Given the description of an element on the screen output the (x, y) to click on. 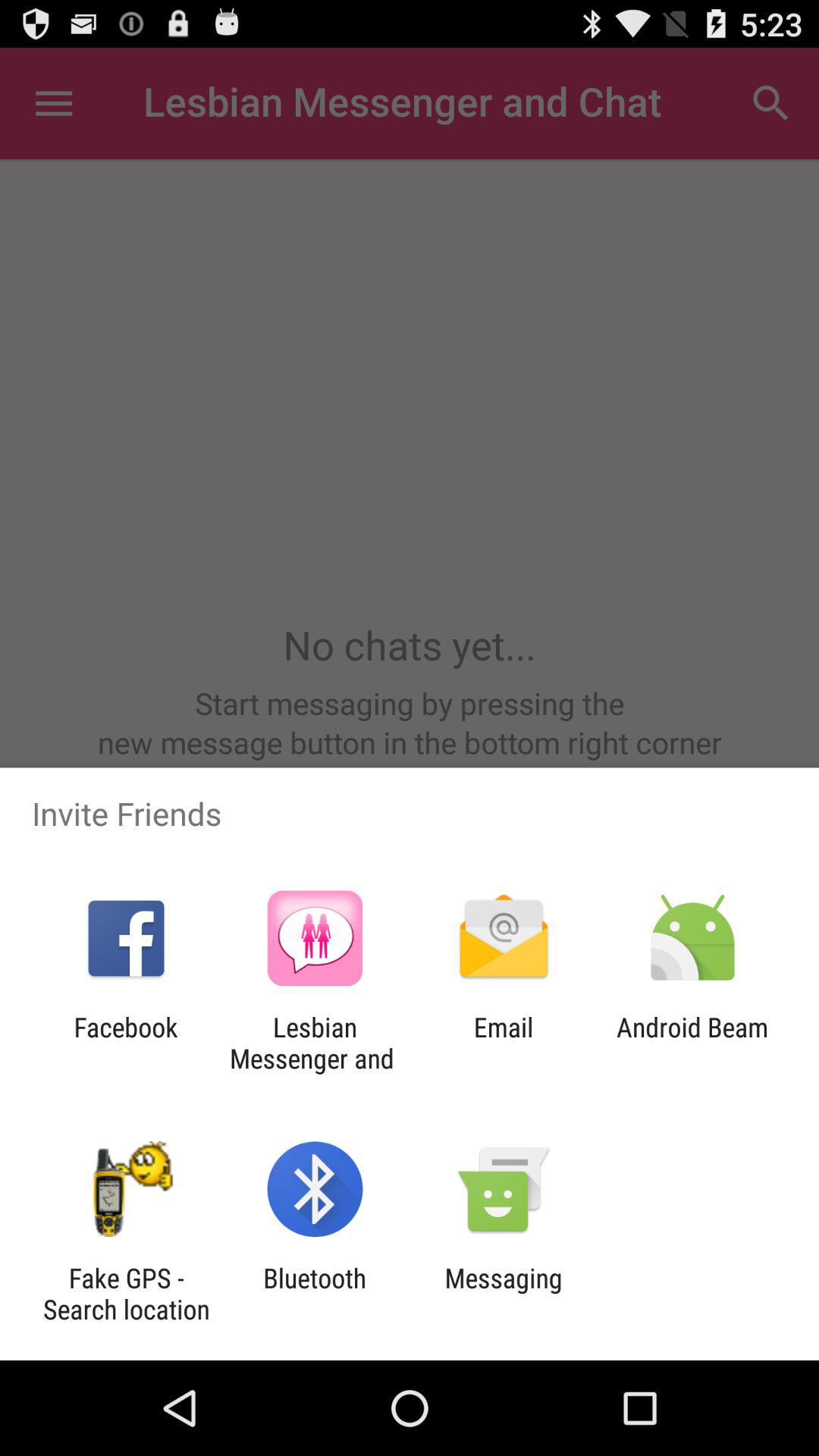
press icon to the right of email item (692, 1042)
